Given the description of an element on the screen output the (x, y) to click on. 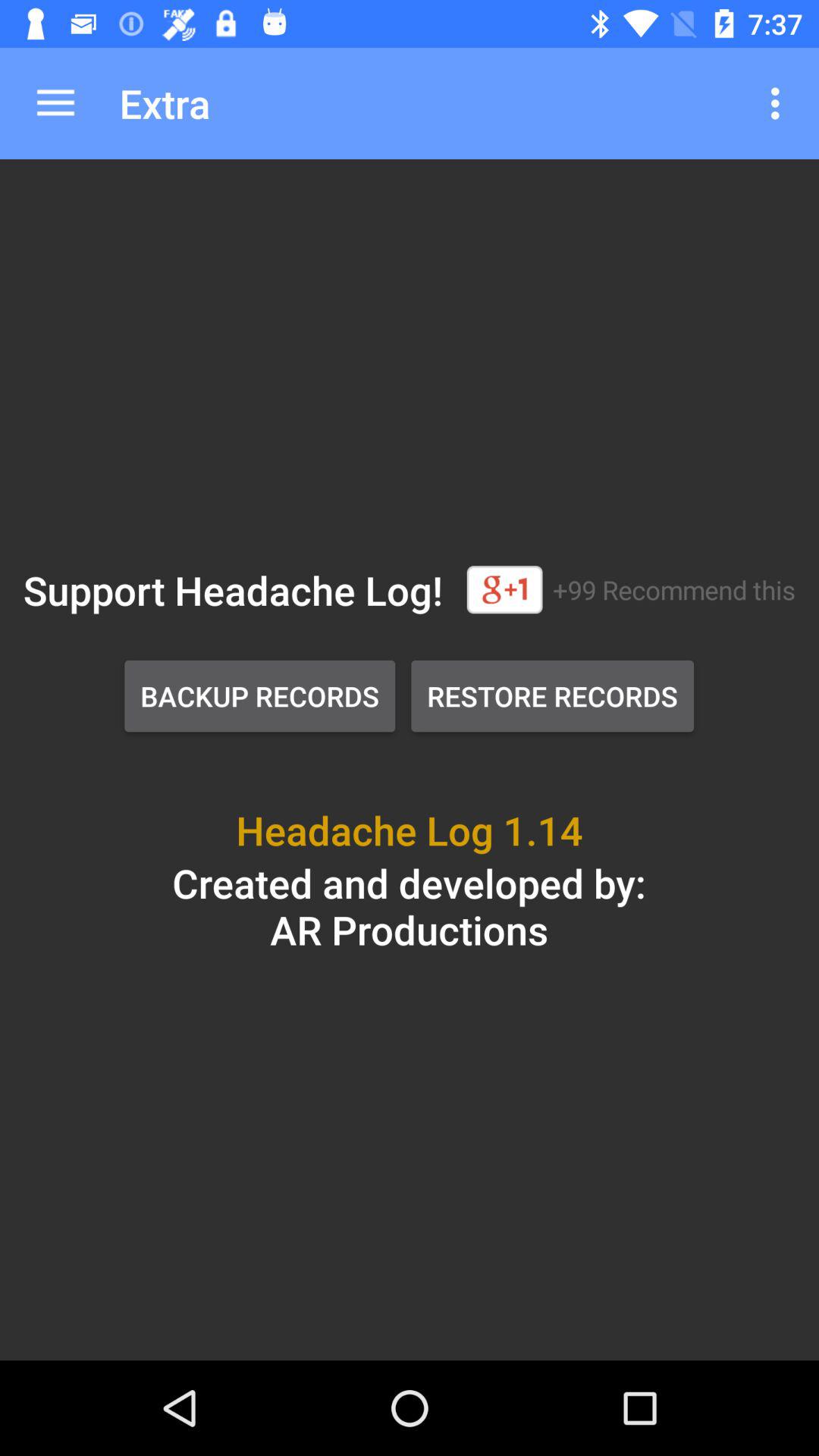
tap the icon above the headache log 1 icon (552, 695)
